Given the description of an element on the screen output the (x, y) to click on. 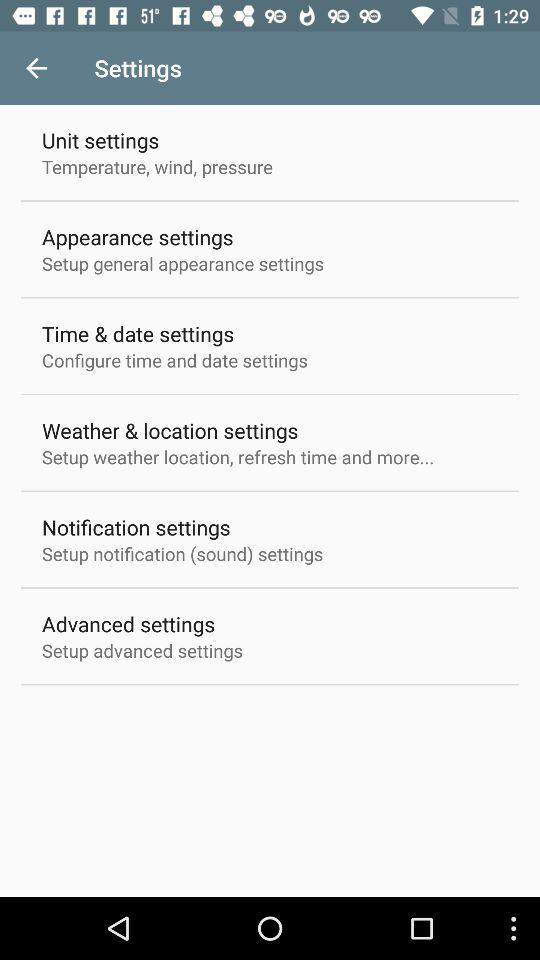
jump to unit settings (100, 139)
